Given the description of an element on the screen output the (x, y) to click on. 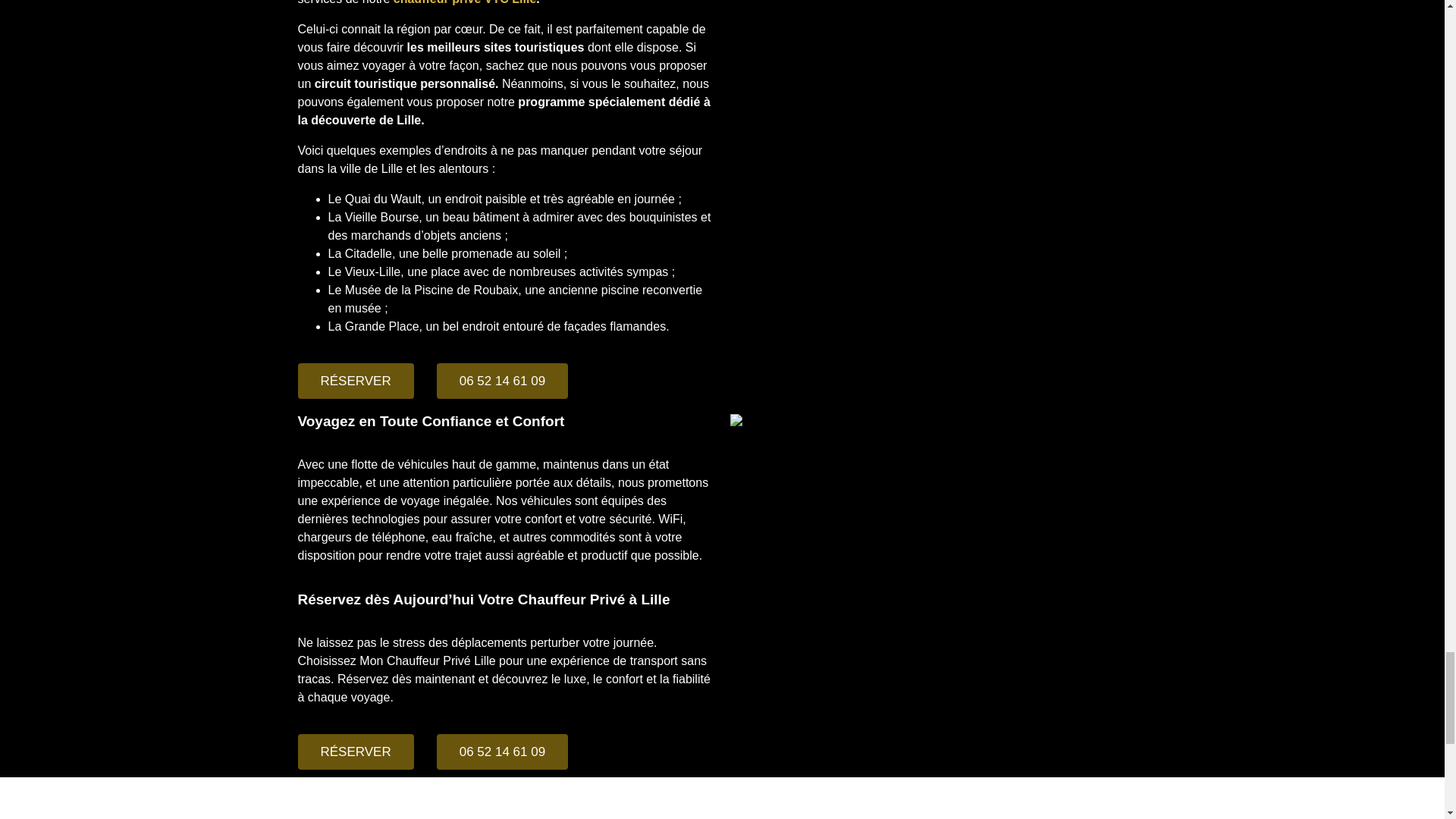
14 b,hameau du pont blanc 59520 (722, 801)
